Given the description of an element on the screen output the (x, y) to click on. 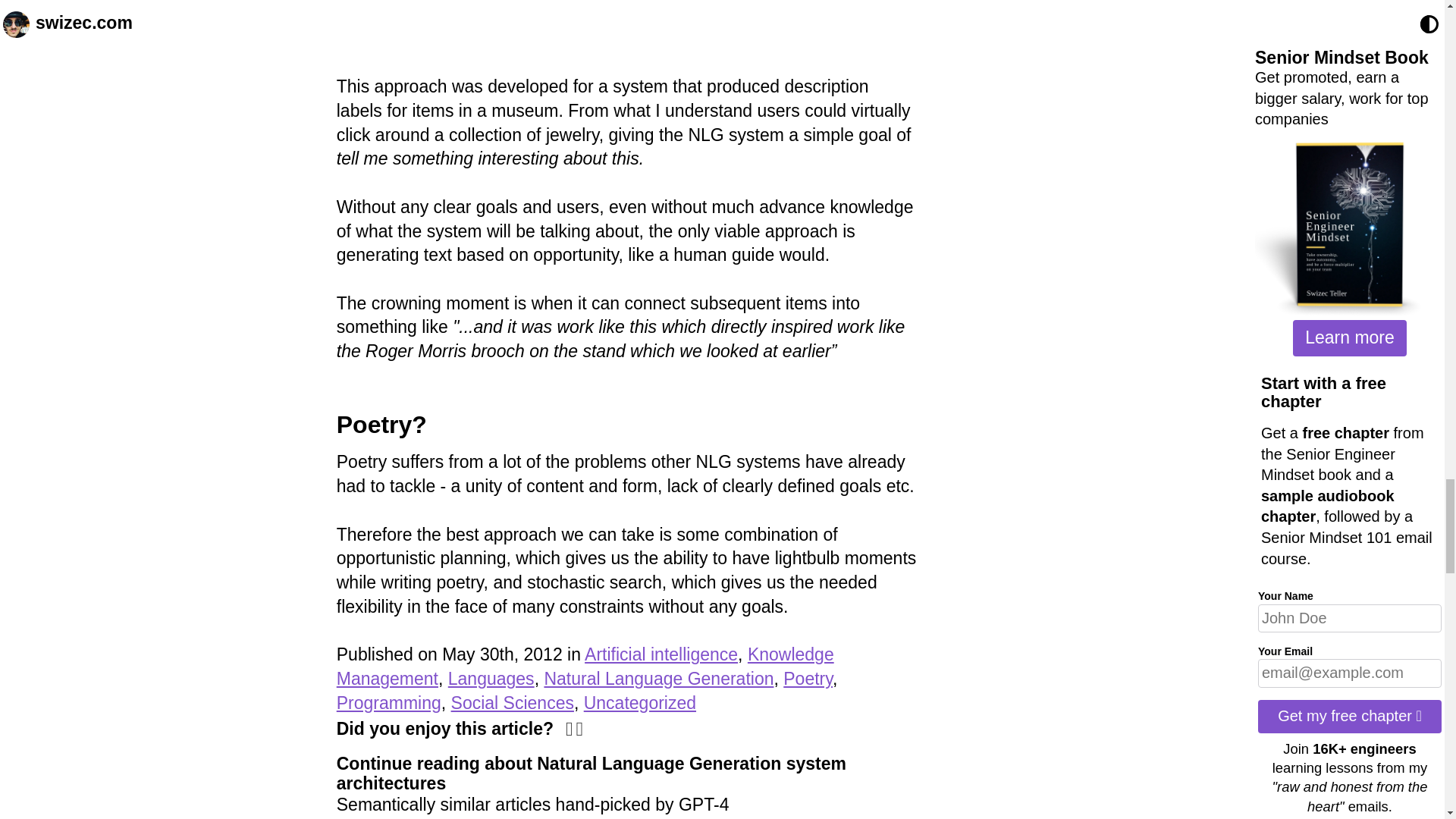
Artificial intelligence (661, 654)
Poetry? (381, 424)
Programming (388, 702)
Poetry (807, 678)
Natural Language Generation (658, 678)
Social Sciences (512, 702)
Knowledge Management (585, 666)
Languages (491, 678)
Uncategorized (639, 702)
